Given the description of an element on the screen output the (x, y) to click on. 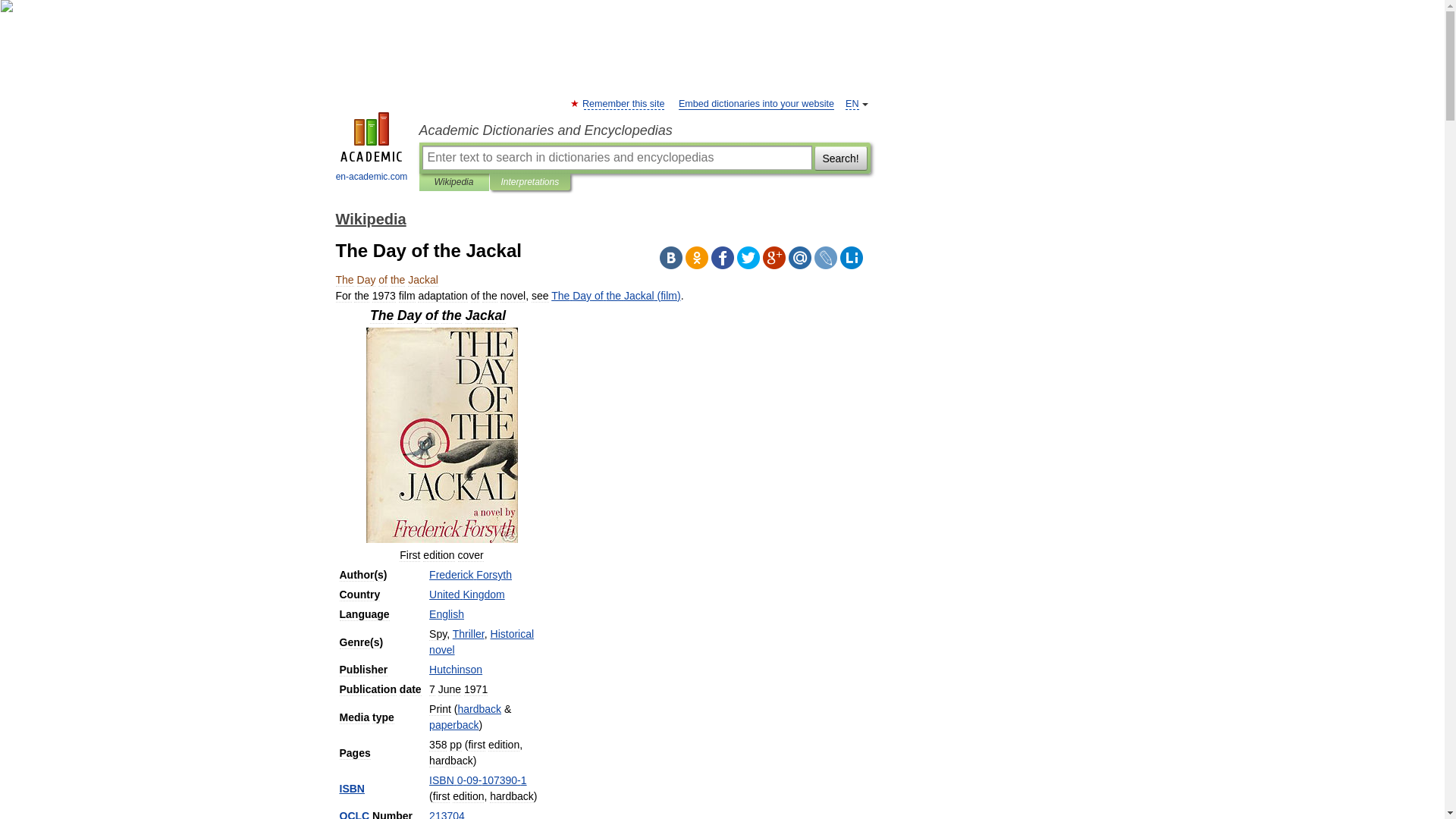
Wikipedia (453, 181)
Historical novel (481, 642)
Remember this site (623, 103)
213704 (446, 814)
Enter text to search in dictionaries and encyclopedias (616, 157)
Frederick Forsyth (470, 574)
paperback (454, 725)
English (446, 613)
Embed dictionaries into your website (756, 103)
ISBN (352, 788)
Wikipedia (370, 218)
Academic Dictionaries and Encyclopedias (644, 130)
Interpretations (529, 181)
Hutchinson (455, 669)
hardback (478, 708)
